Given the description of an element on the screen output the (x, y) to click on. 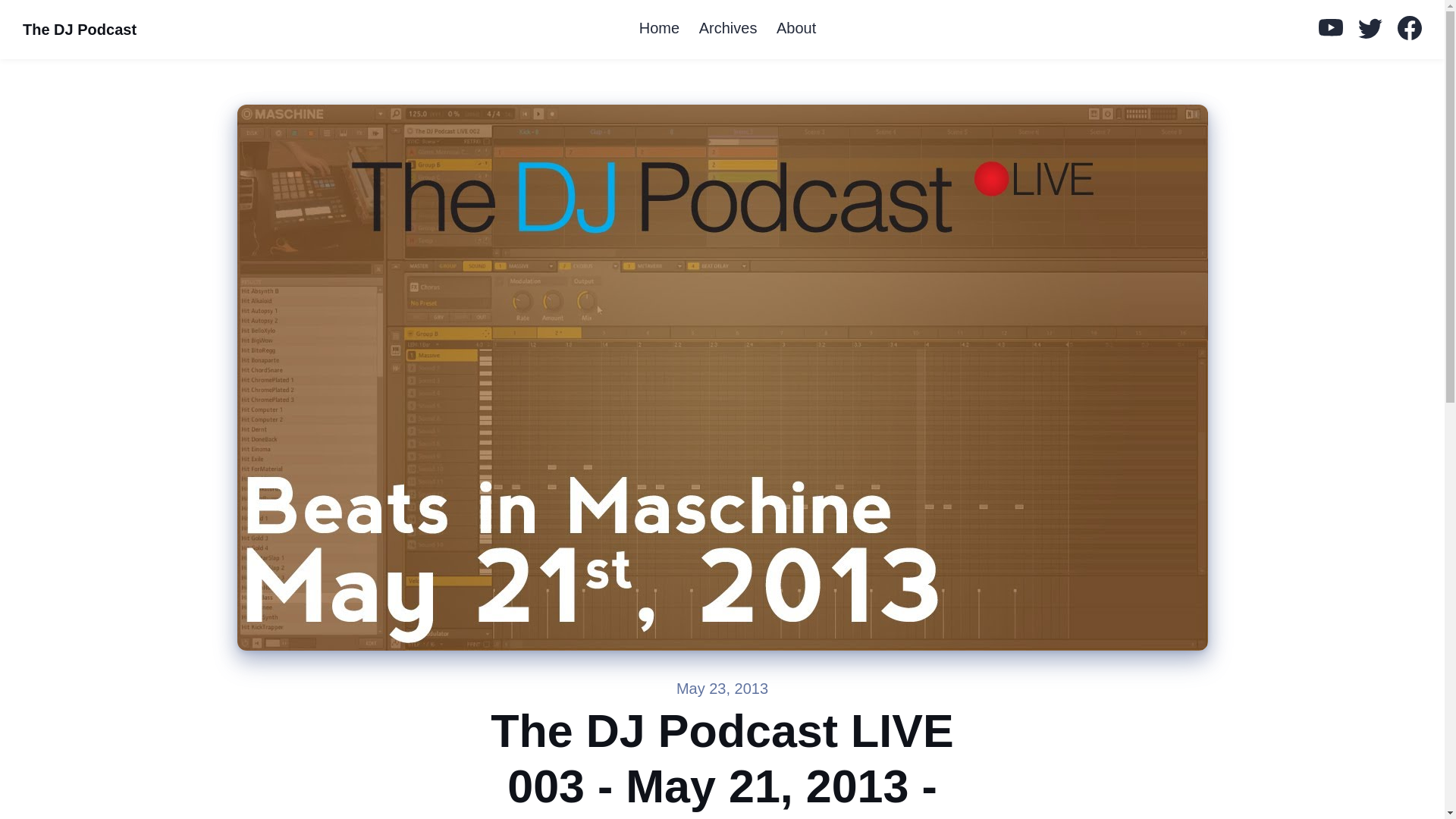
Home (659, 29)
Archives (728, 29)
About (796, 29)
The DJ Podcast (79, 30)
